Given the description of an element on the screen output the (x, y) to click on. 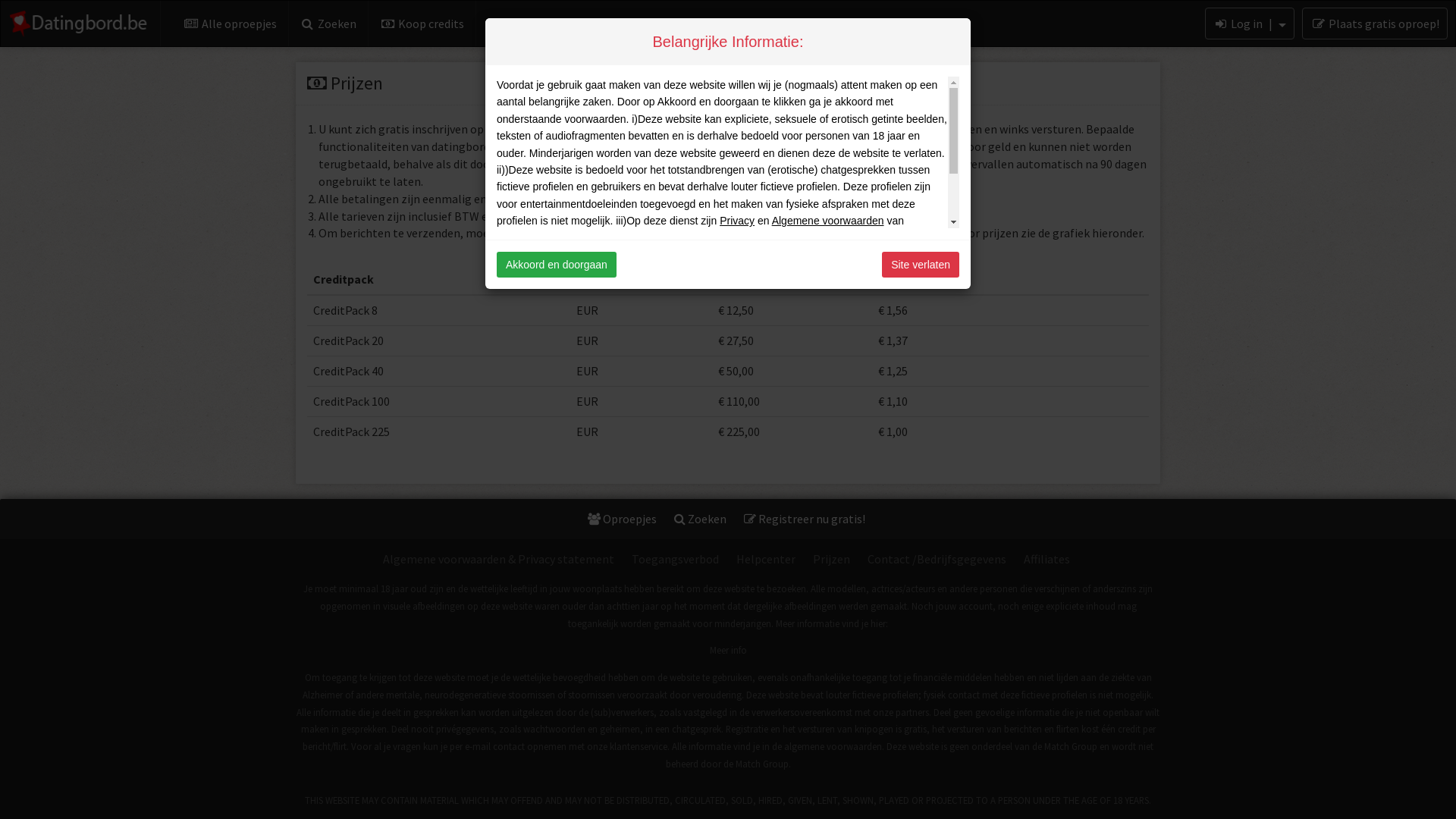
Affiliates Element type: text (1046, 559)
Contact /Bedrijfsgegevens Element type: text (935, 559)
Privacy Element type: text (736, 220)
Algemene voorwaarden Element type: text (827, 220)
Toegangsverbod Element type: text (674, 559)
Alle oproepjes Element type: text (230, 23)
Log in | Element type: text (1249, 23)
Meer info Element type: text (727, 649)
Zoeken Element type: text (700, 518)
Site verlaten Element type: text (920, 264)
Registreer nu gratis! Element type: text (804, 518)
Algemene voorwaarden & Privacy statement Element type: text (498, 559)
Plaats gratis oproep! Element type: text (1374, 23)
Prijzen Element type: text (830, 559)
Helpcenter Element type: text (765, 559)
Zoeken Element type: text (328, 23)
Akkoord en doorgaan Element type: text (556, 264)
Koop credits Element type: text (421, 23)
Oproepjes Element type: text (621, 518)
